Given the description of an element on the screen output the (x, y) to click on. 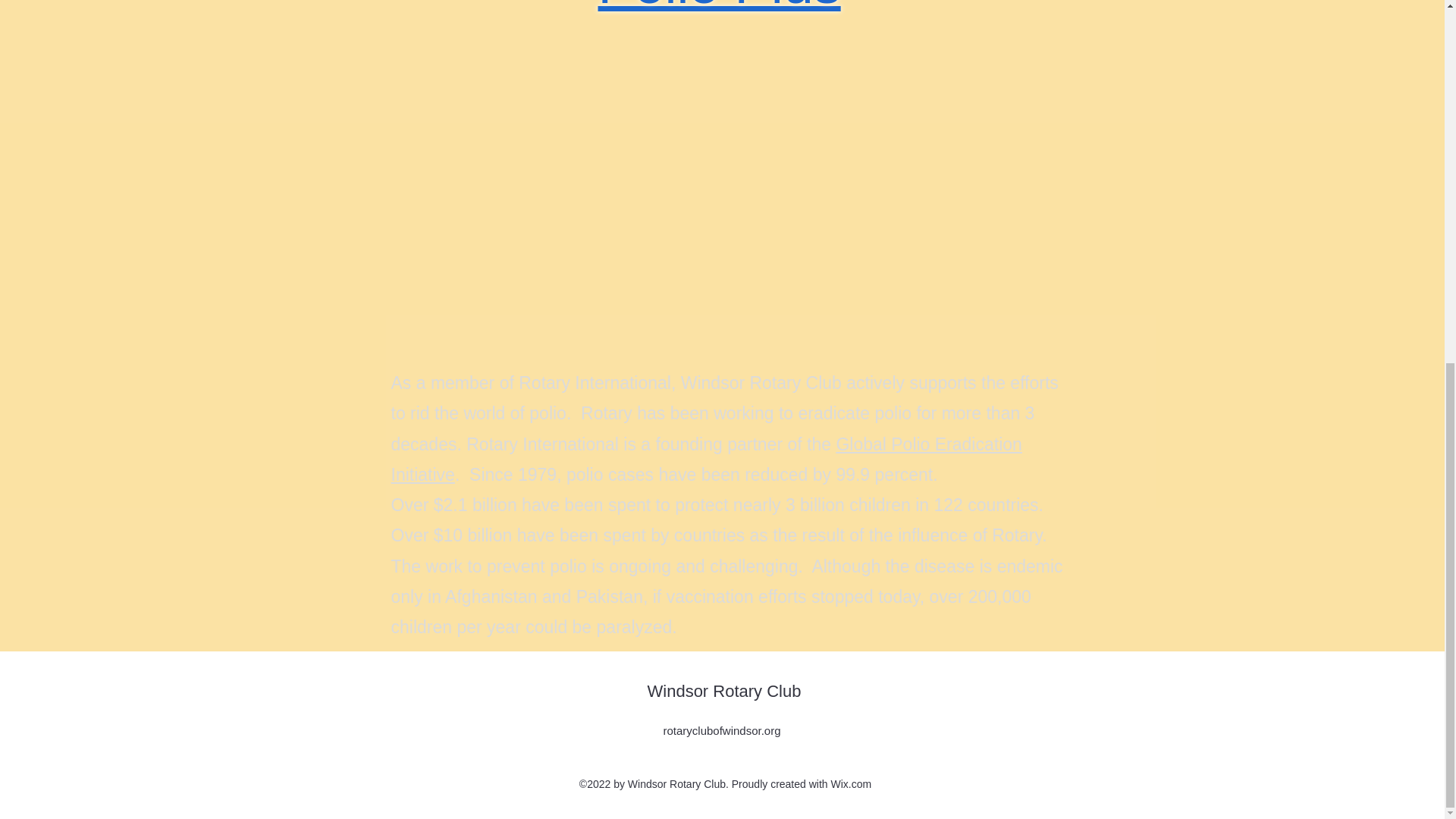
Global Polio Eradication Initiative (706, 459)
.  Since 1979, (508, 474)
Polio Plus (718, 7)
